Given the description of an element on the screen output the (x, y) to click on. 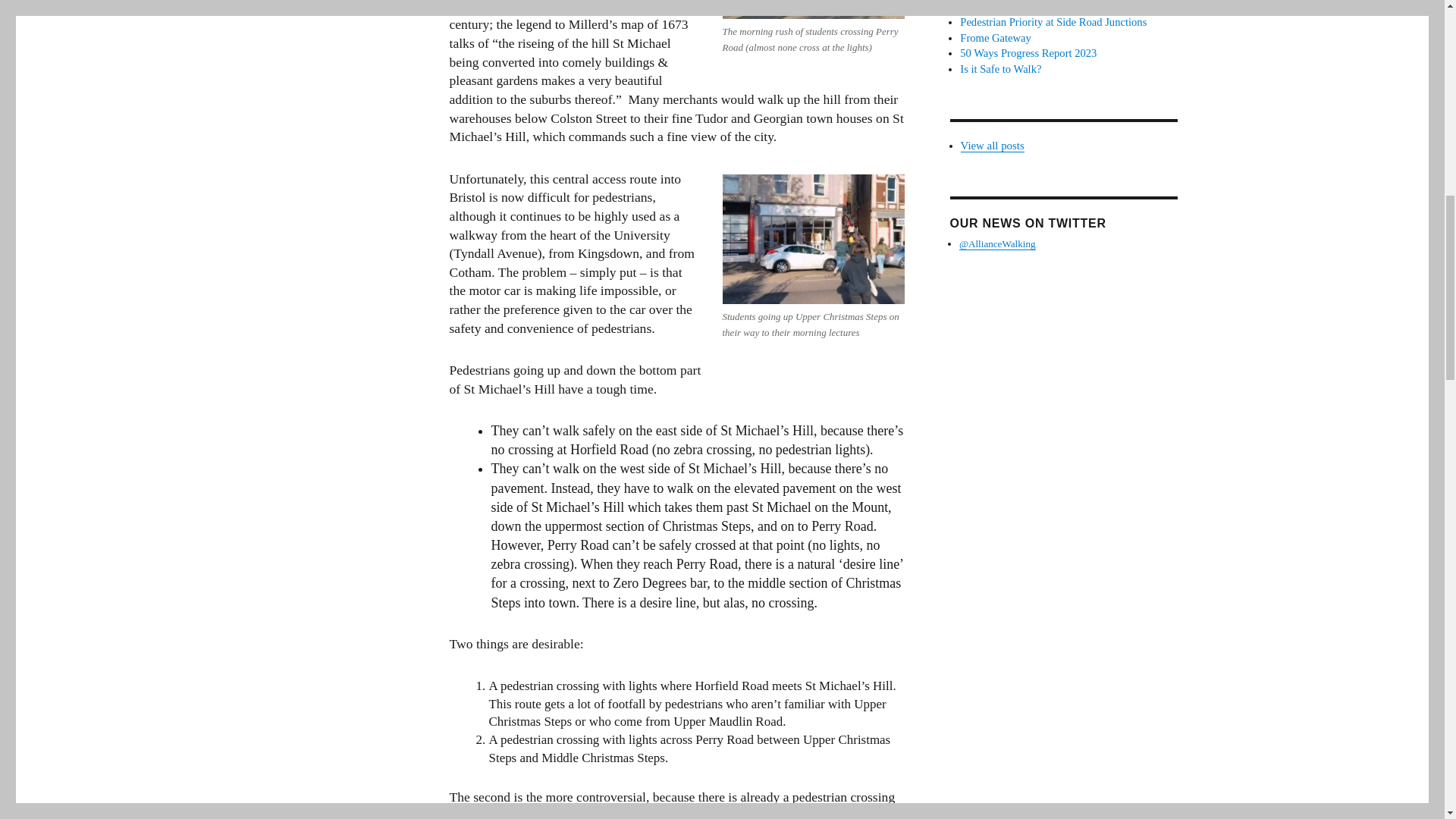
View all posts (992, 145)
Frome Gateway (994, 37)
Pedestrian Priority at Side Road Junctions (1053, 21)
50 Ways Progress Report 2023 (1027, 52)
Is it Safe to Walk? (1000, 69)
Parks and Green Spaces Strategy (1032, 6)
